Given the description of an element on the screen output the (x, y) to click on. 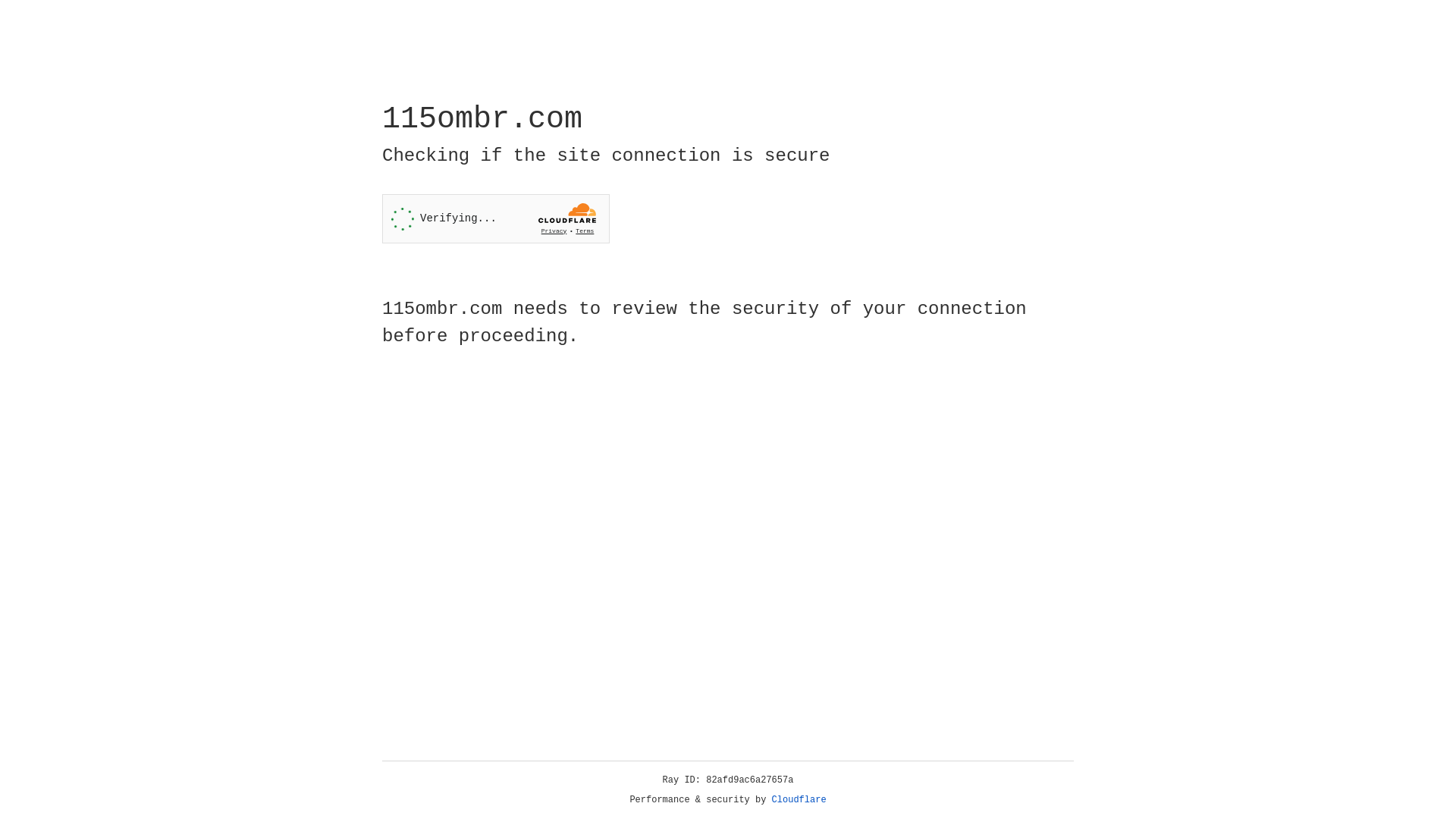
Widget containing a Cloudflare security challenge Element type: hover (495, 218)
Cloudflare Element type: text (798, 799)
